Given the description of an element on the screen output the (x, y) to click on. 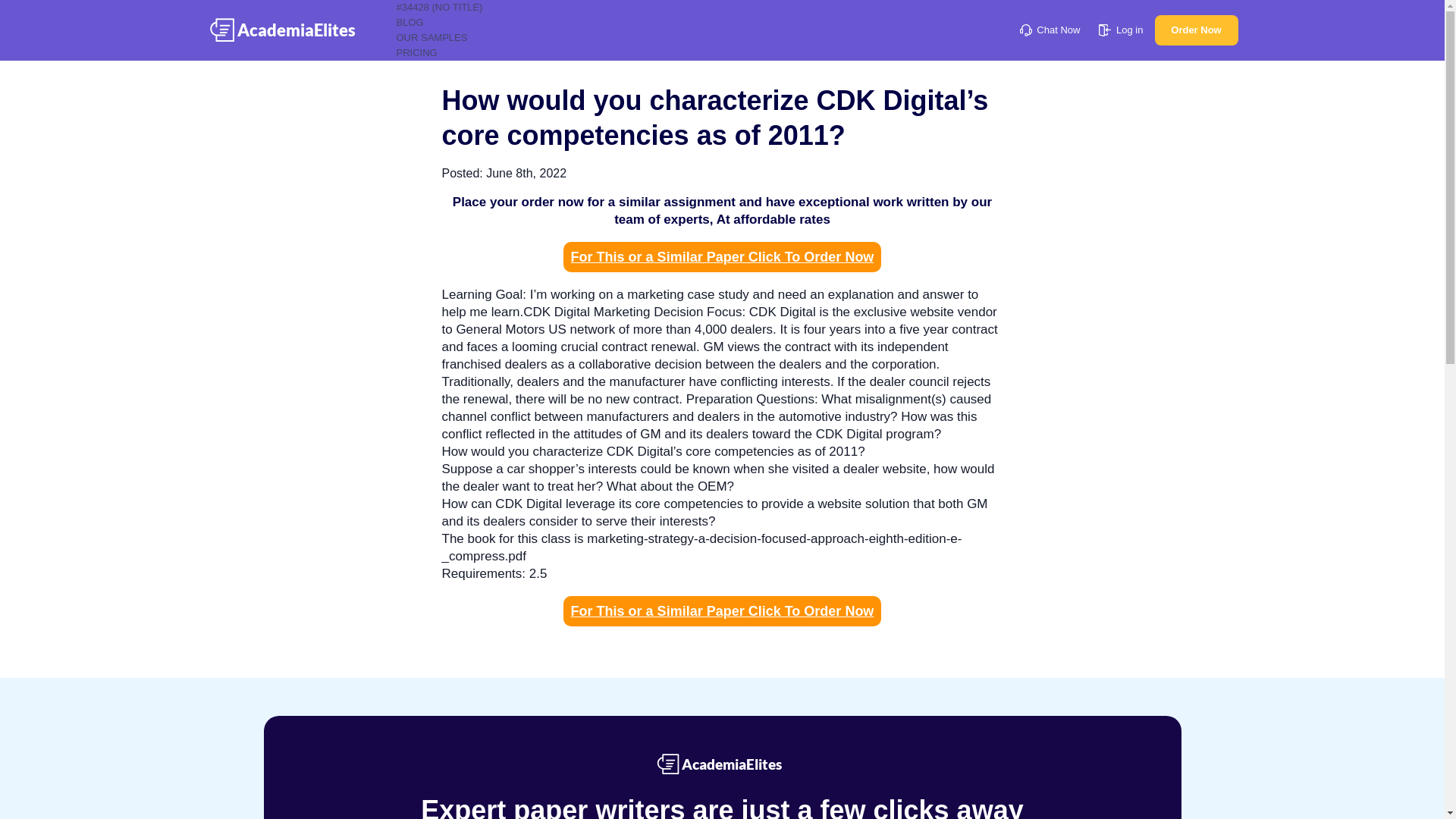
OUR SAMPLES (431, 37)
For This or a Similar Paper Click To Order Now (722, 611)
For This or a Similar Paper Click To Order Now (722, 256)
BLOG (409, 21)
Chat Now (1050, 30)
Order Now (1195, 30)
Log in (1120, 30)
PRICING (416, 52)
